Given the description of an element on the screen output the (x, y) to click on. 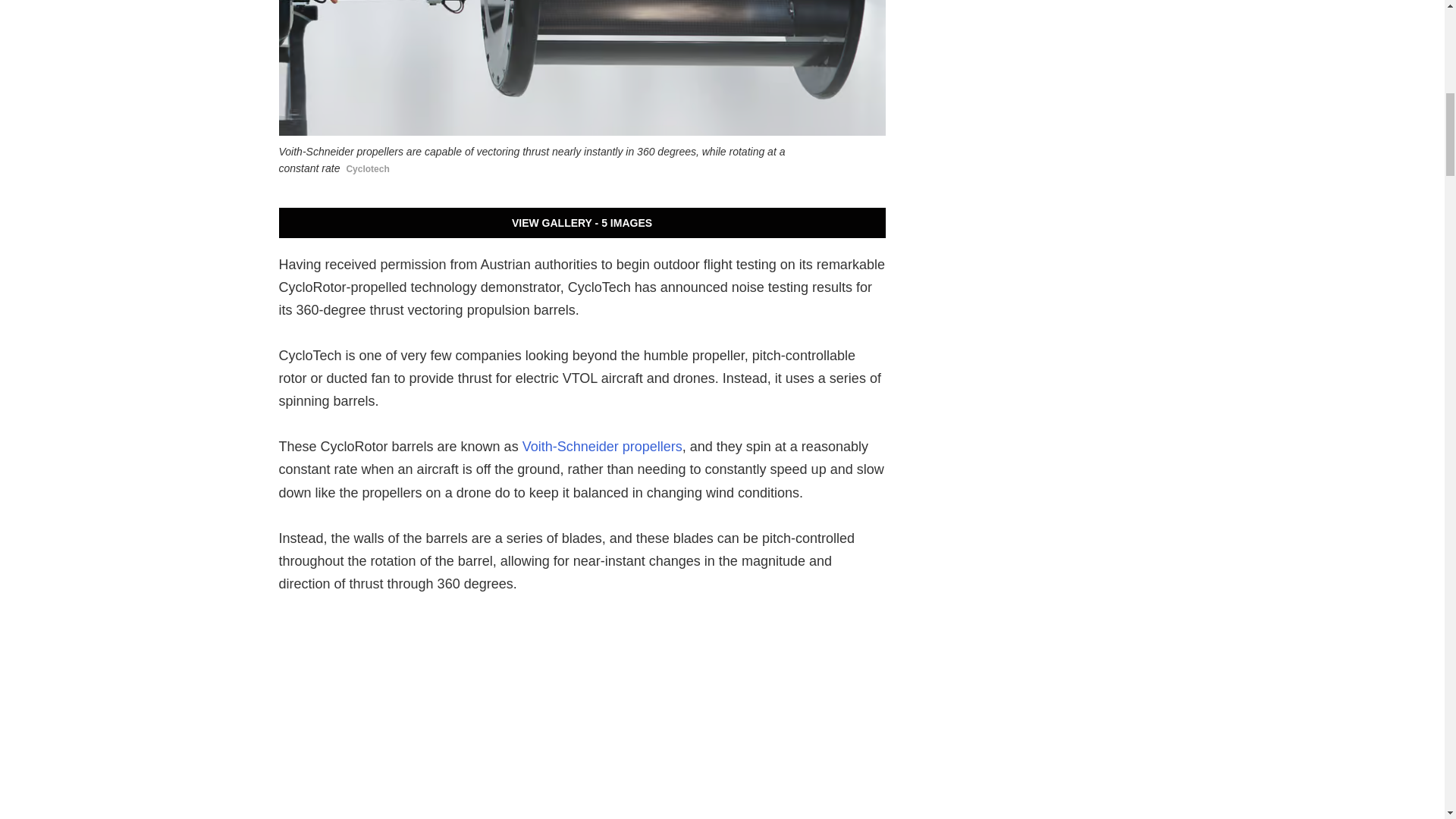
YouTube embedded video player (582, 718)
